Given the description of an element on the screen output the (x, y) to click on. 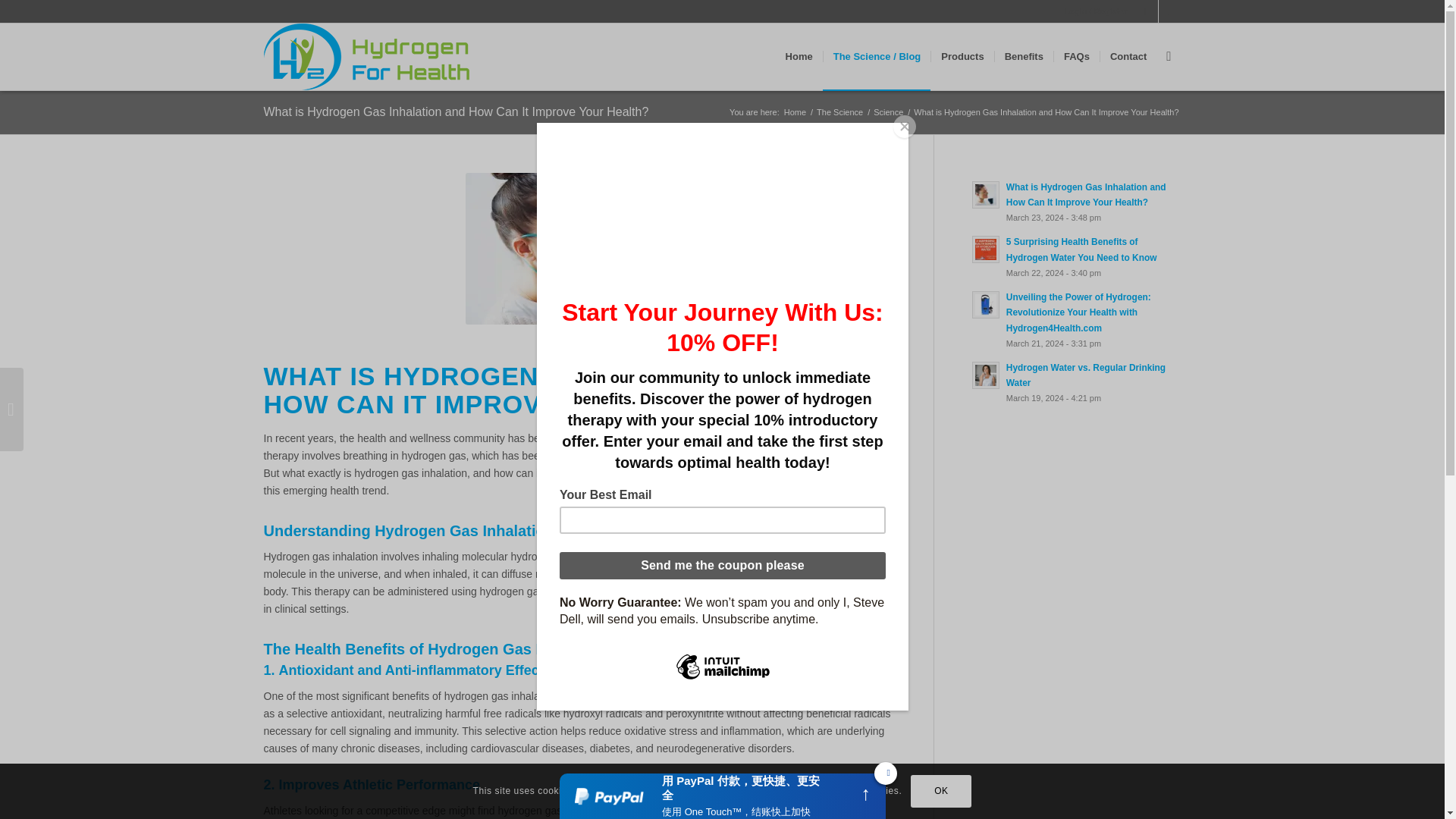
Home (794, 112)
Youtube (1169, 11)
Science (887, 112)
Hydrogen For Health (794, 112)
Facebook (1146, 11)
Products (961, 56)
The Science (838, 112)
Hydrogen Water vs. Regular Drinking Water (1076, 382)
